Given the description of an element on the screen output the (x, y) to click on. 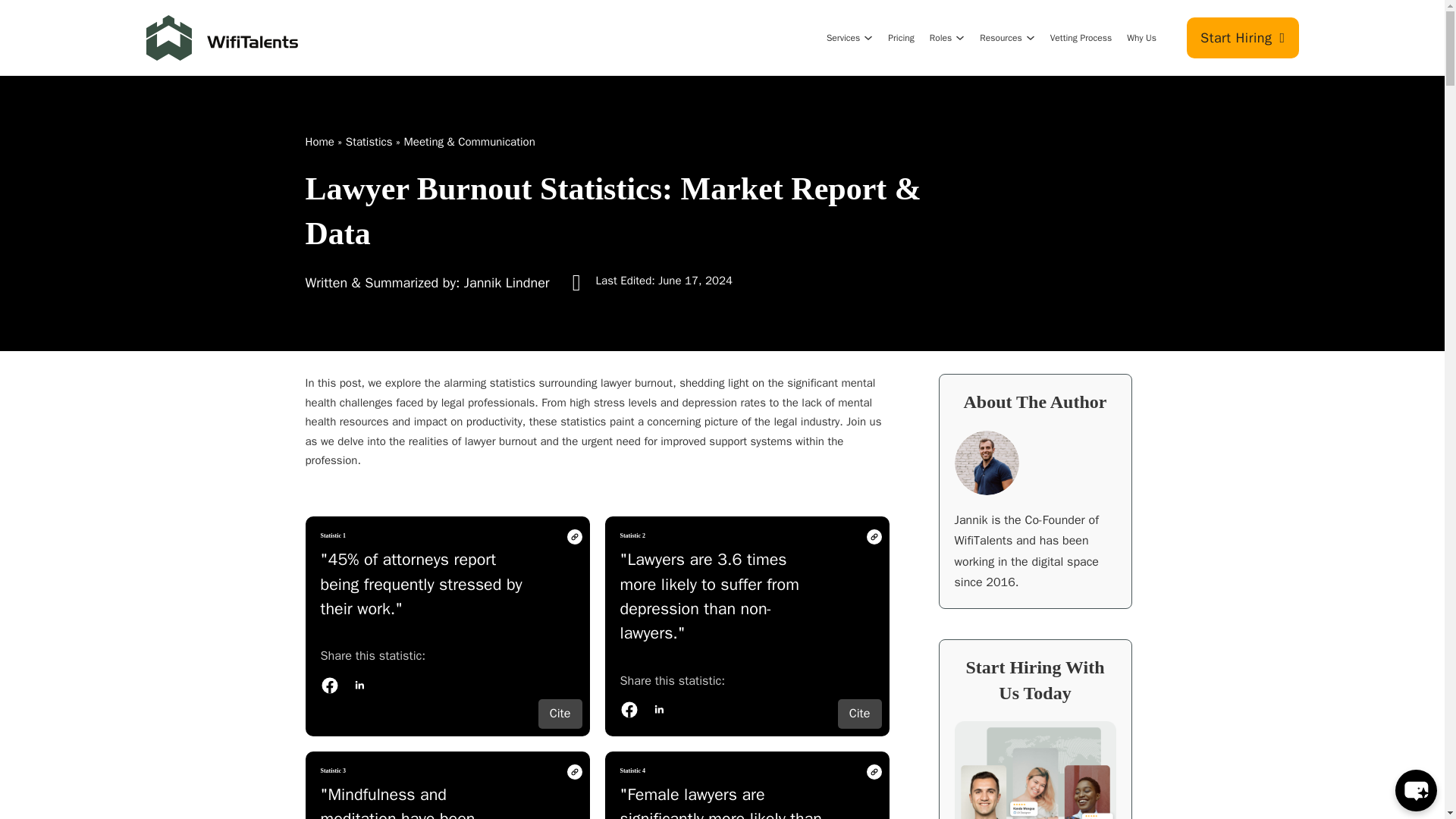
Pricing (901, 37)
Vetting Process (1080, 37)
Why Us (1141, 37)
